Given the description of an element on the screen output the (x, y) to click on. 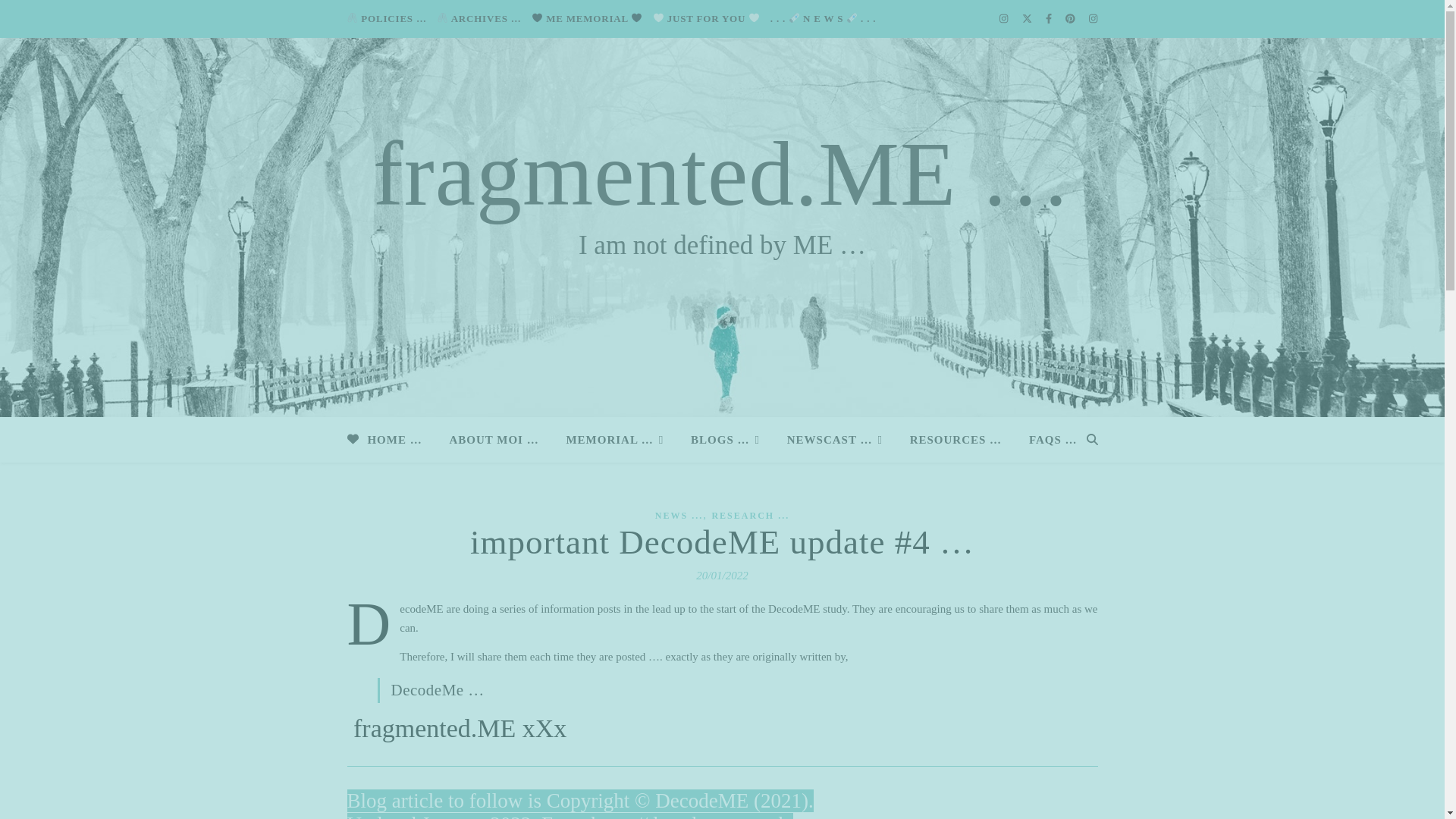
ME MEMORIAL (586, 18)
